Given the description of an element on the screen output the (x, y) to click on. 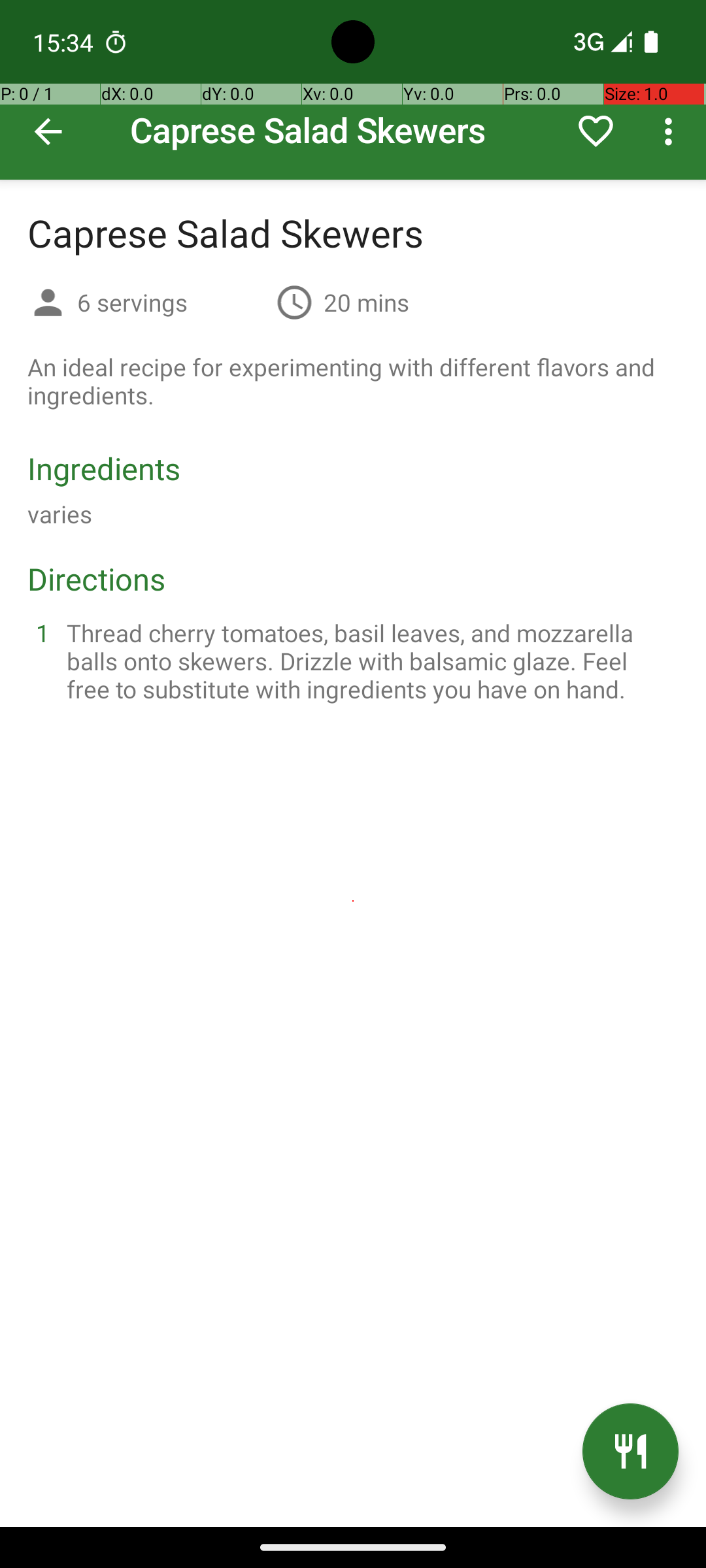
Thread cherry tomatoes, basil leaves, and mozzarella balls onto skewers. Drizzle with balsamic glaze. Feel free to substitute with ingredients you have on hand. Element type: android.widget.TextView (368, 660)
